Given the description of an element on the screen output the (x, y) to click on. 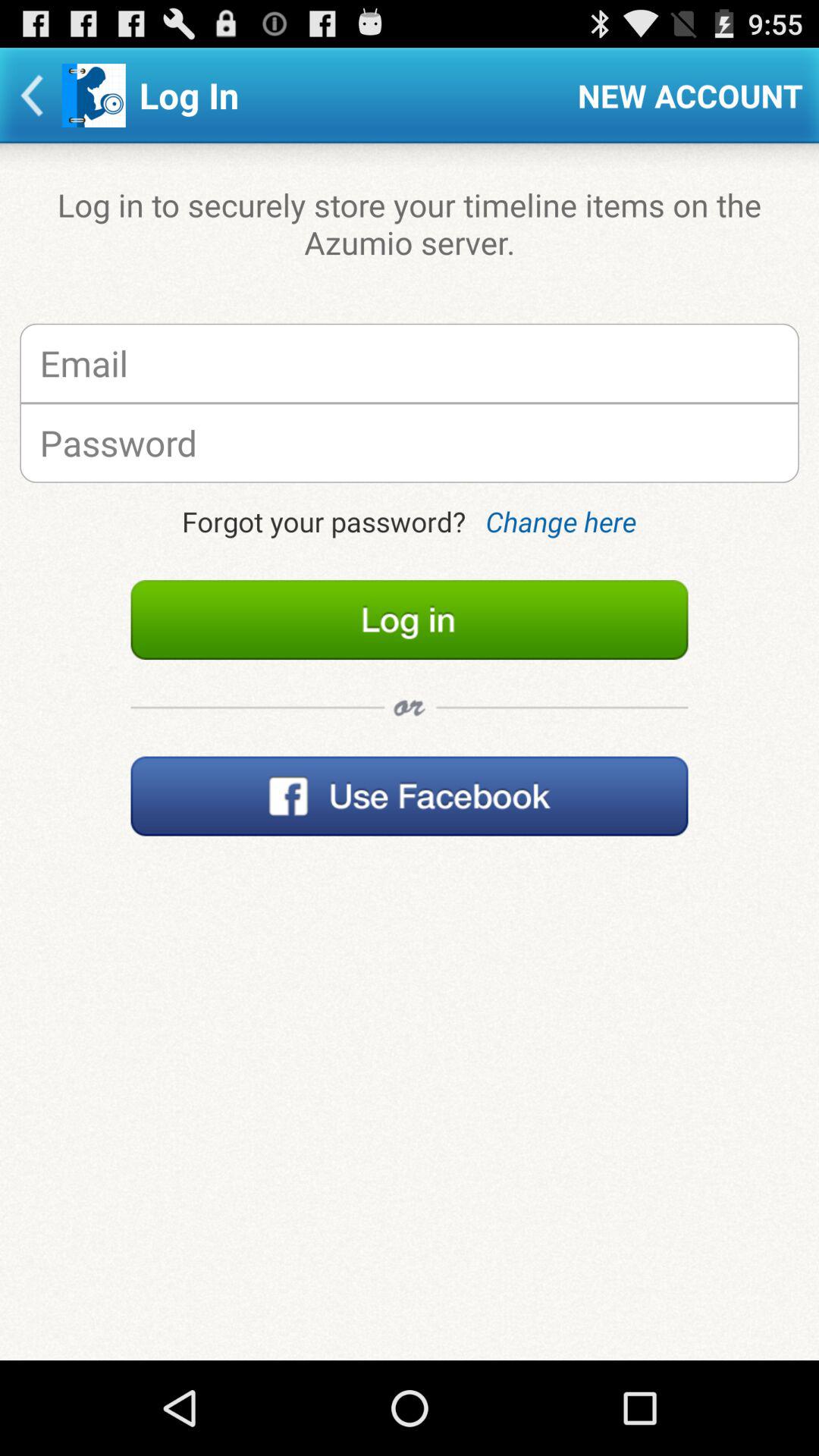
enter login email (409, 363)
